Given the description of an element on the screen output the (x, y) to click on. 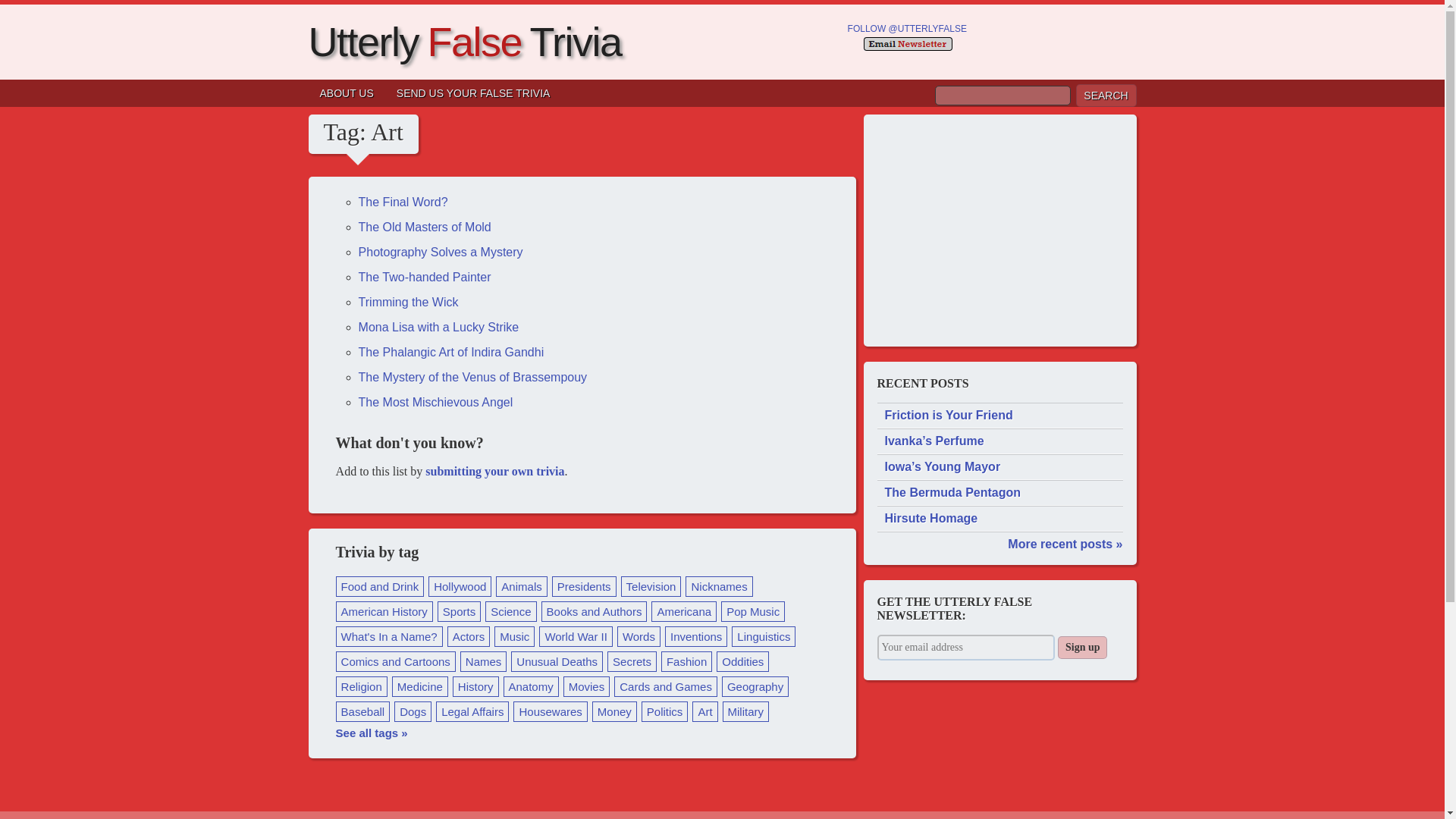
Photography Solves a Mystery (440, 251)
Books and Authors (594, 611)
Hollywood (460, 586)
Permalink to Friction is Your Friend (999, 415)
Unusual Deaths (556, 661)
Nicknames (718, 586)
Sign up (1082, 647)
Secrets (631, 661)
The Final Word? (403, 201)
Words (639, 636)
